Given the description of an element on the screen output the (x, y) to click on. 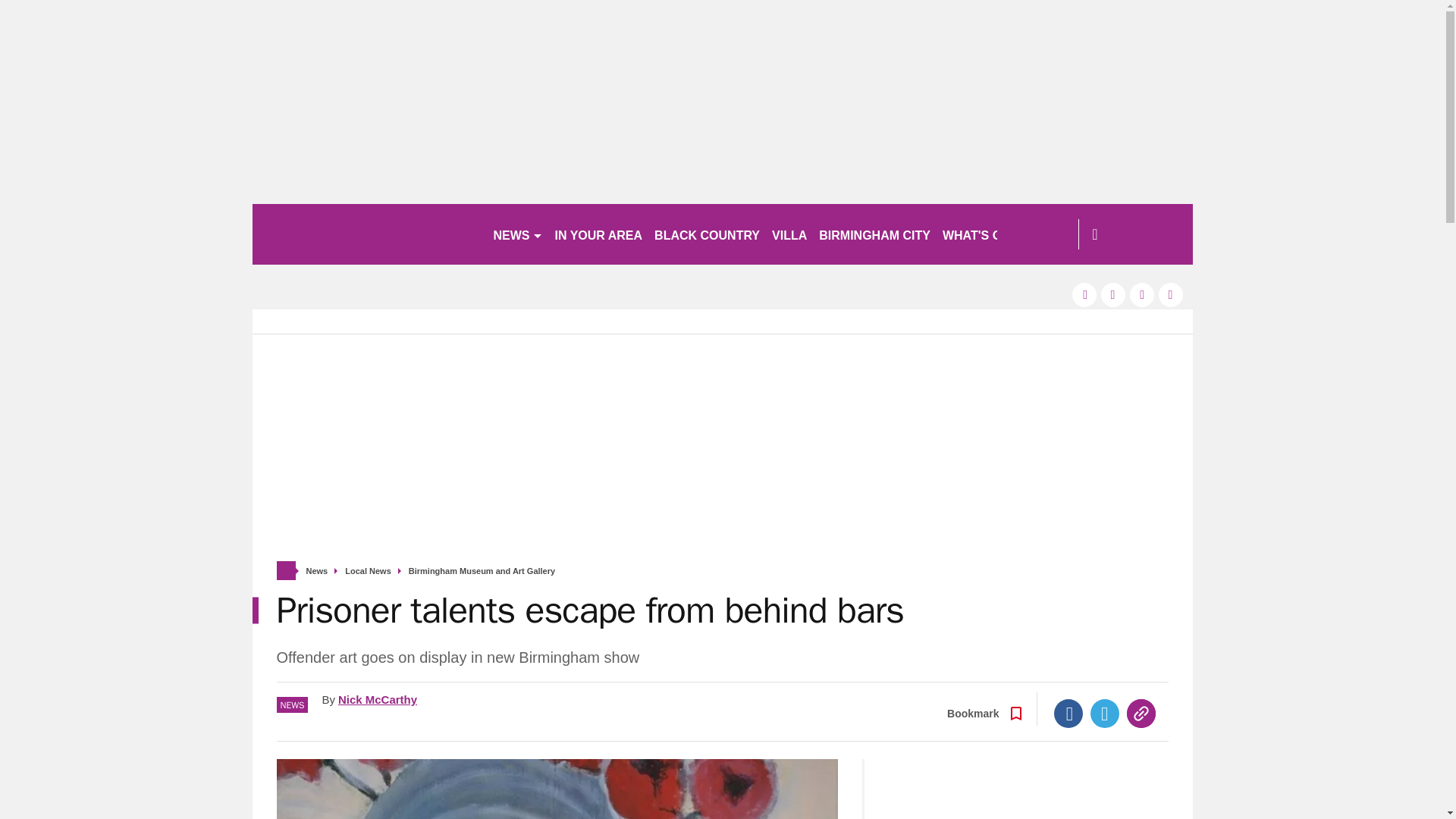
tiktok (1141, 294)
twitter (1112, 294)
Twitter (1104, 713)
BLACK COUNTRY (706, 233)
instagram (1170, 294)
Facebook (1068, 713)
IN YOUR AREA (598, 233)
birminghammail (365, 233)
WHAT'S ON (982, 233)
BIRMINGHAM CITY (874, 233)
NEWS (517, 233)
facebook (1083, 294)
